Given the description of an element on the screen output the (x, y) to click on. 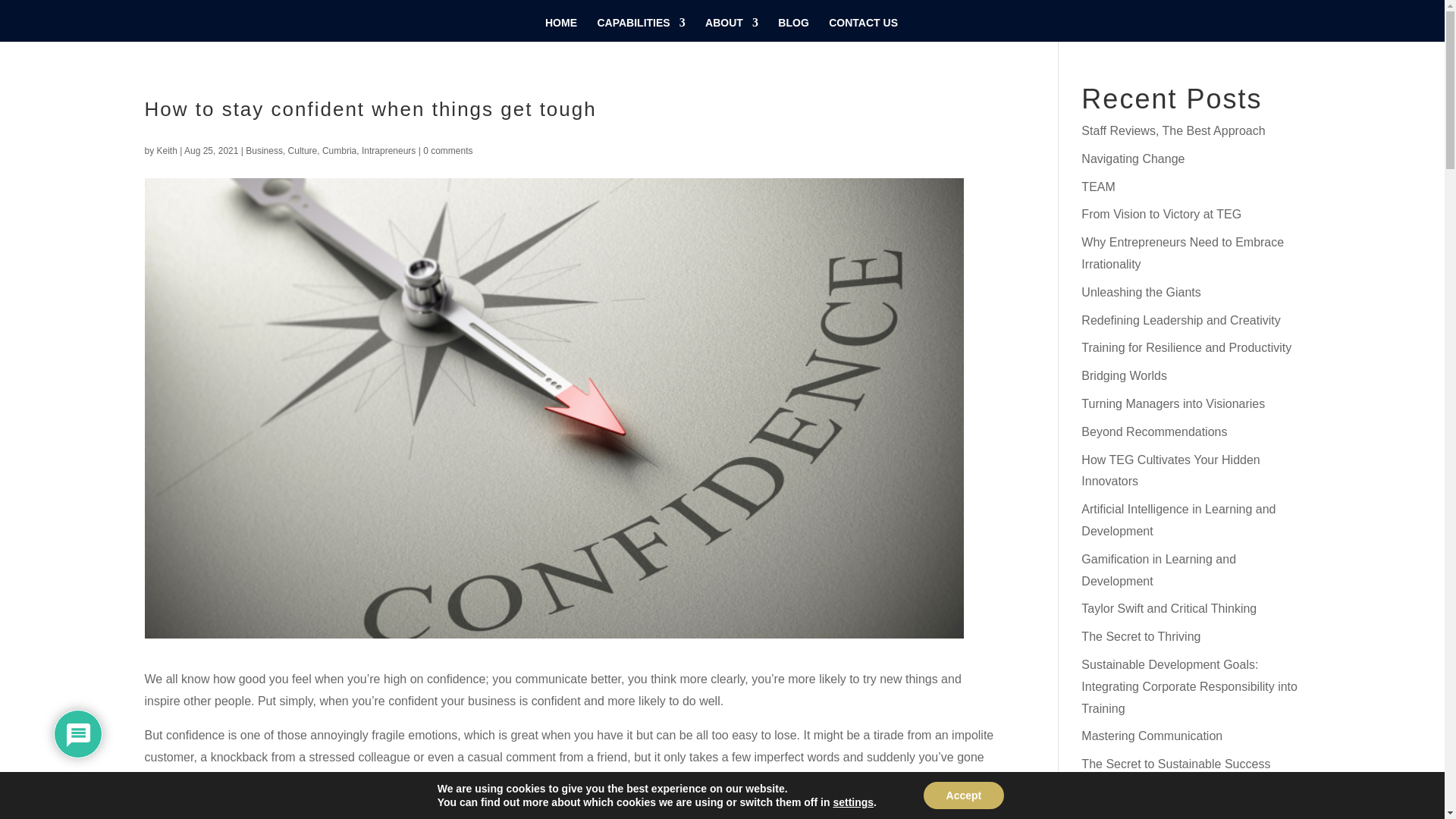
Posts by Keith (167, 150)
Cumbria (338, 150)
BLOG (792, 29)
HOME (560, 29)
Intrapreneurs (387, 150)
Culture (302, 150)
ABOUT (731, 29)
Business (264, 150)
Keith (167, 150)
CAPABILITIES (640, 29)
CONTACT US (863, 29)
0 comments (447, 150)
